Given the description of an element on the screen output the (x, y) to click on. 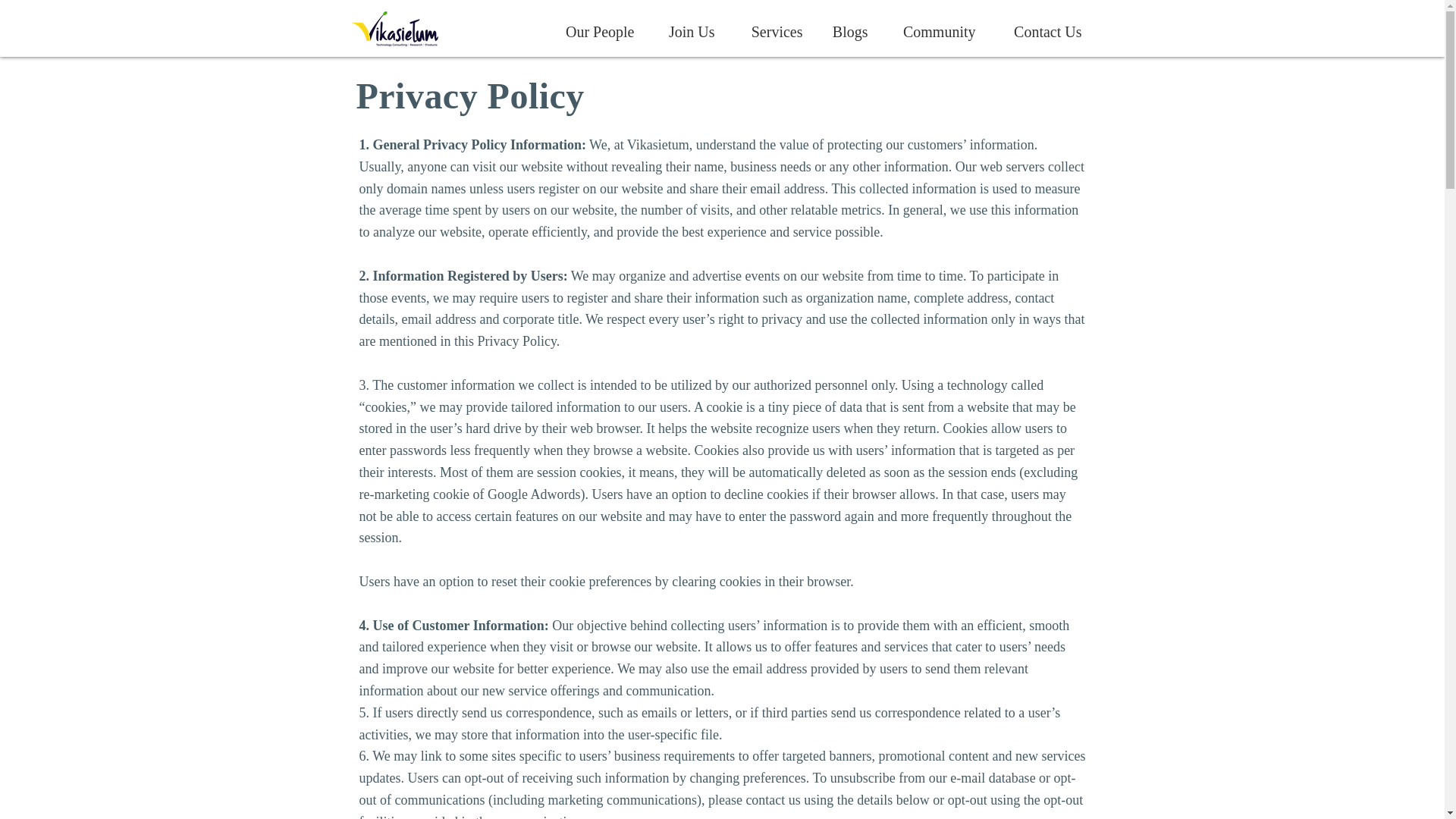
Our People (591, 31)
Blogs (846, 31)
Join Us (686, 31)
Community (933, 31)
Contact Us (1040, 31)
Services (769, 31)
